Given the description of an element on the screen output the (x, y) to click on. 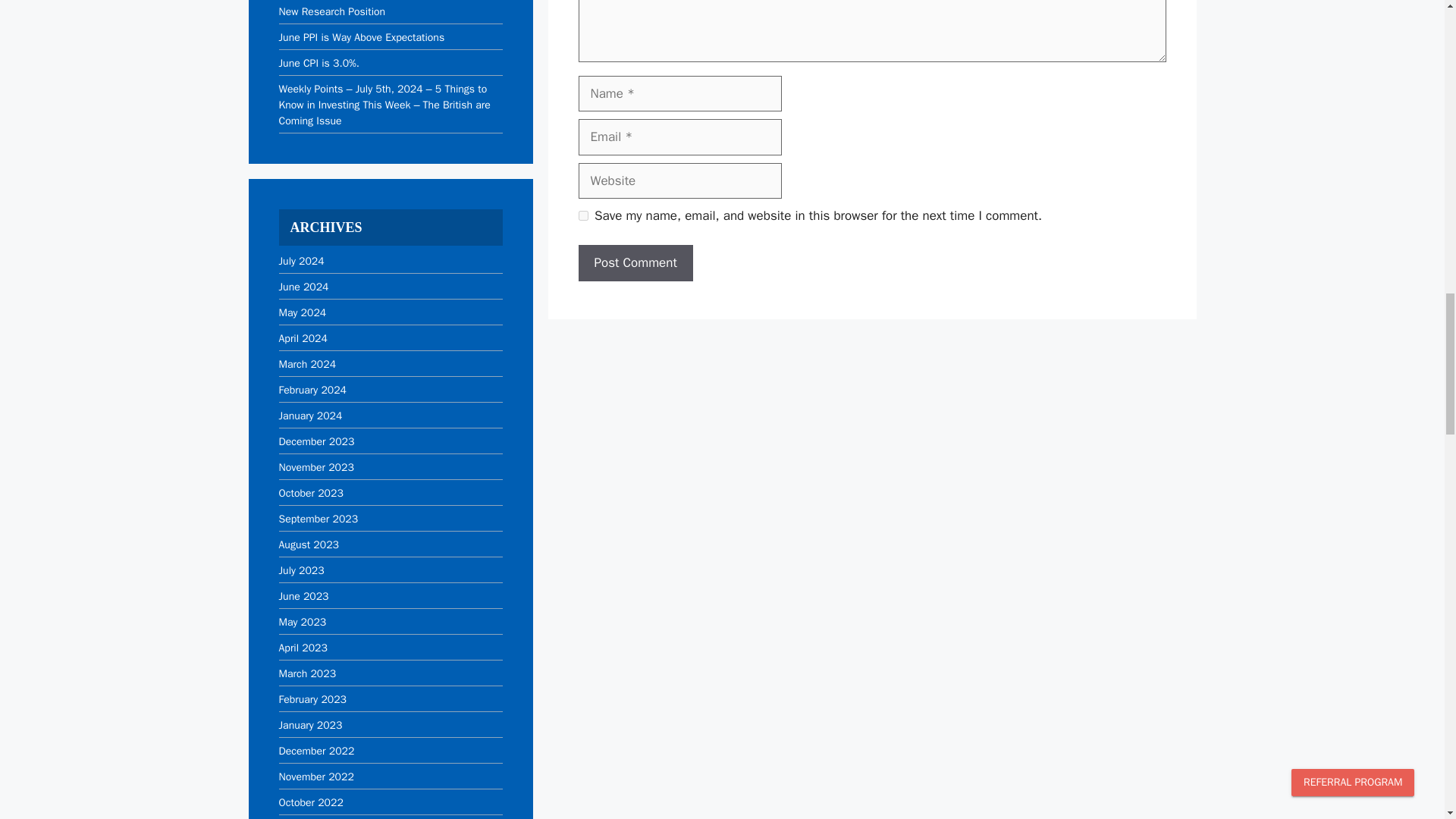
Post Comment (635, 262)
yes (583, 215)
